Given the description of an element on the screen output the (x, y) to click on. 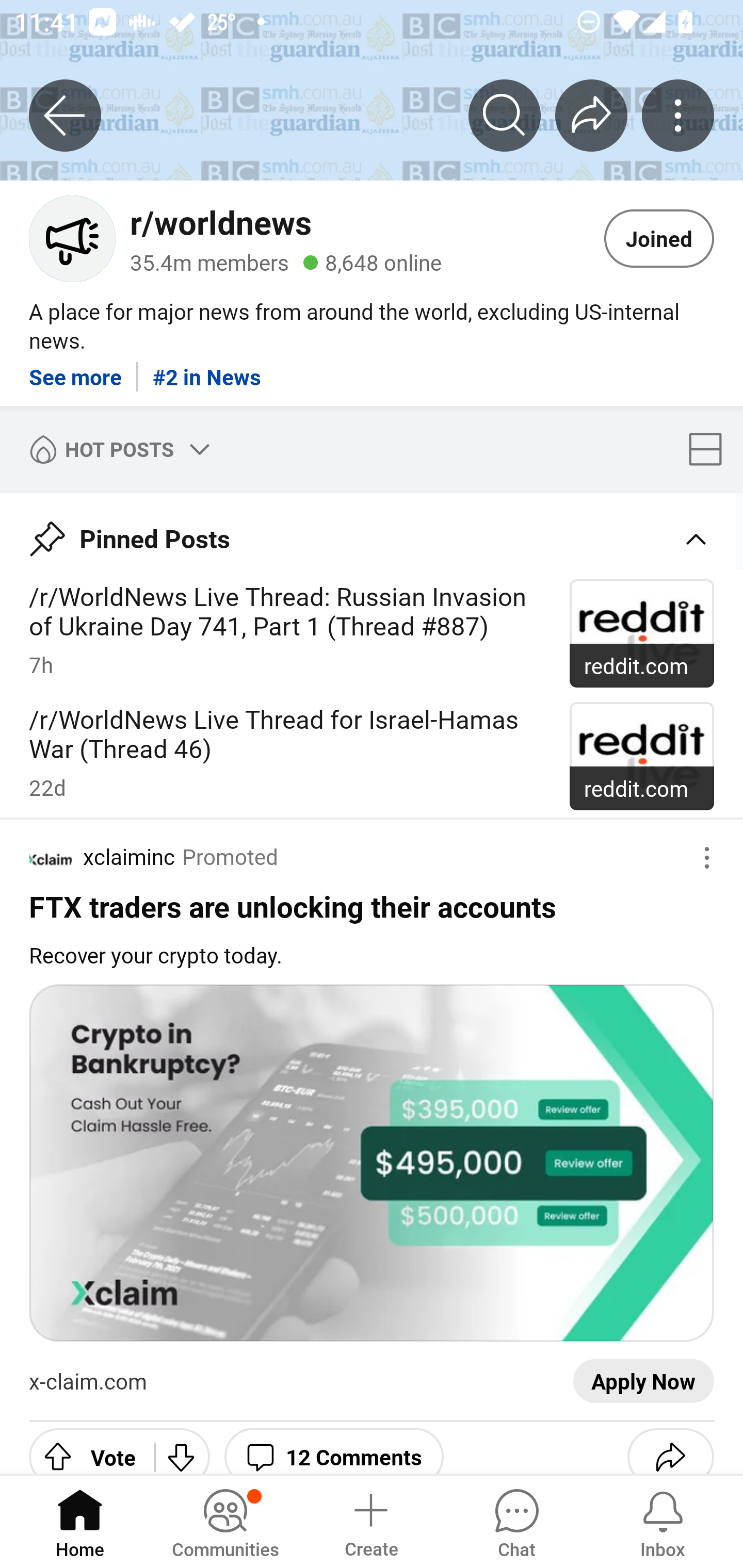
Back (64, 115)
Search r/﻿worldnews (504, 115)
Share r/﻿worldnews (591, 115)
More community actions (677, 115)
See more (74, 369)
#2 in News (206, 369)
HOT POSTS Sort by Hot posts (115, 449)
Card display (711, 449)
Pin Pinned Posts Caret (371, 532)
Author xclaiminc (101, 856)
Image (371, 1163)
x-claim.com (87, 1382)
Apply Now (643, 1382)
Upvote Vote (83, 1447)
Downvote (181, 1447)
12 Comments (333, 1447)
Share (670, 1447)
Home (80, 1520)
Communities, has notifications Communities (225, 1520)
Create a post Create (370, 1520)
Chat (516, 1520)
Inbox (662, 1520)
